Given the description of an element on the screen output the (x, y) to click on. 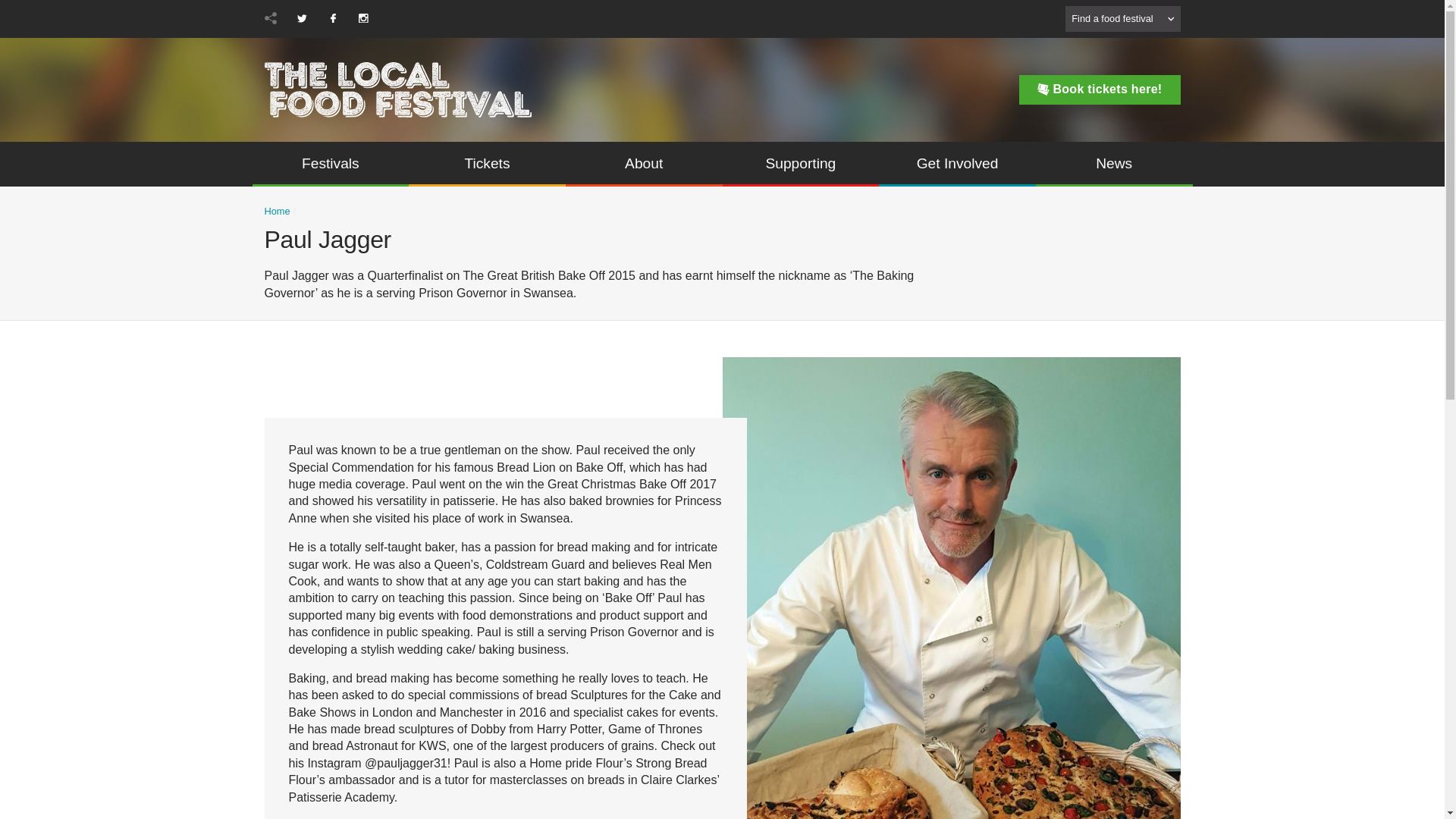
About (644, 163)
The Local Food Festival on Facebook (332, 18)
The Local Food Festival on Twitter (301, 18)
Tickets (487, 163)
Supporting (800, 163)
Get Involved (957, 163)
Home (276, 211)
News (1113, 163)
The Local Food Festival on Instagram (362, 18)
